Given the description of an element on the screen output the (x, y) to click on. 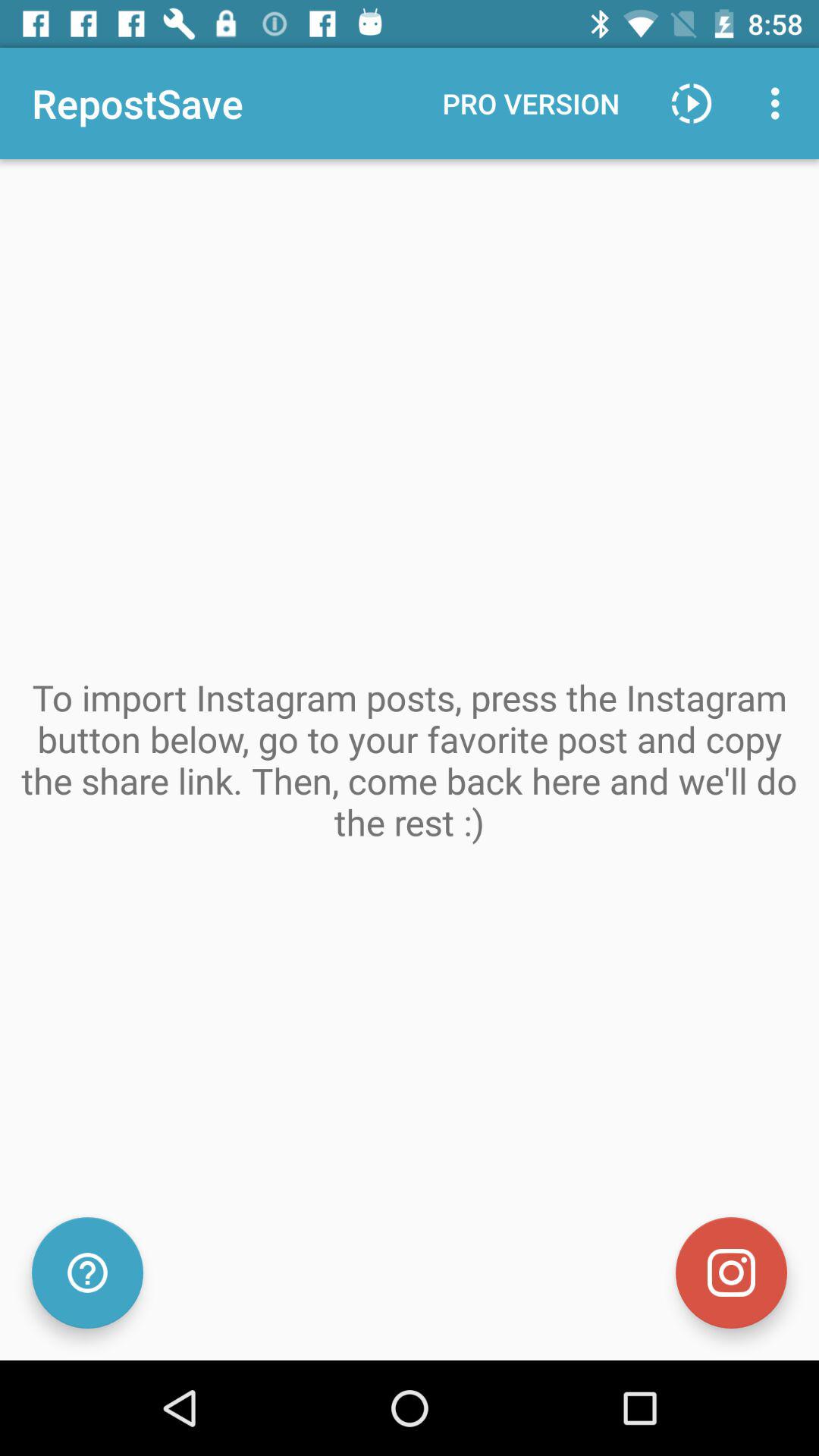
press icon above to import instagram item (691, 103)
